Given the description of an element on the screen output the (x, y) to click on. 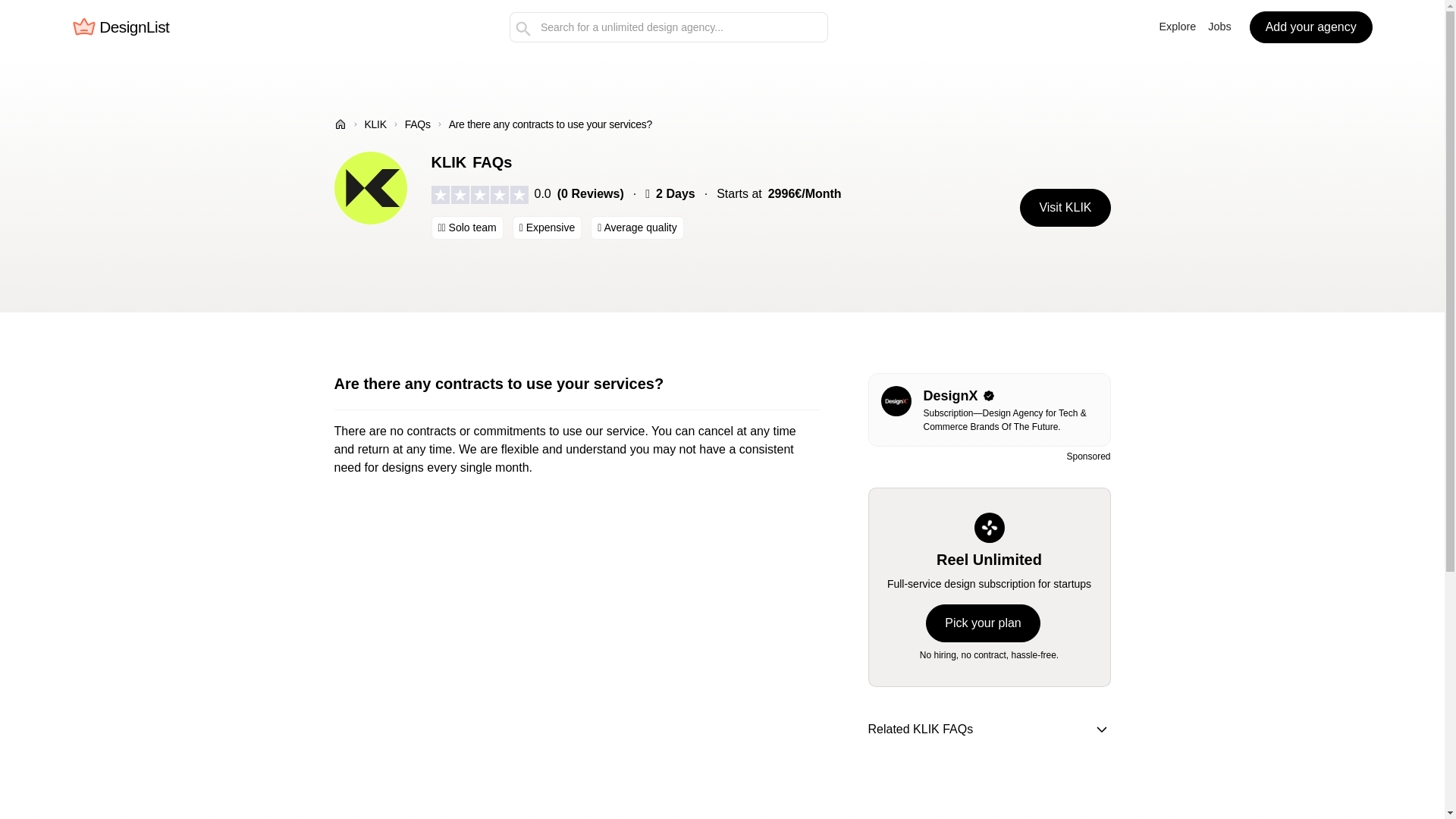
DesignList (119, 27)
